Given the description of an element on the screen output the (x, y) to click on. 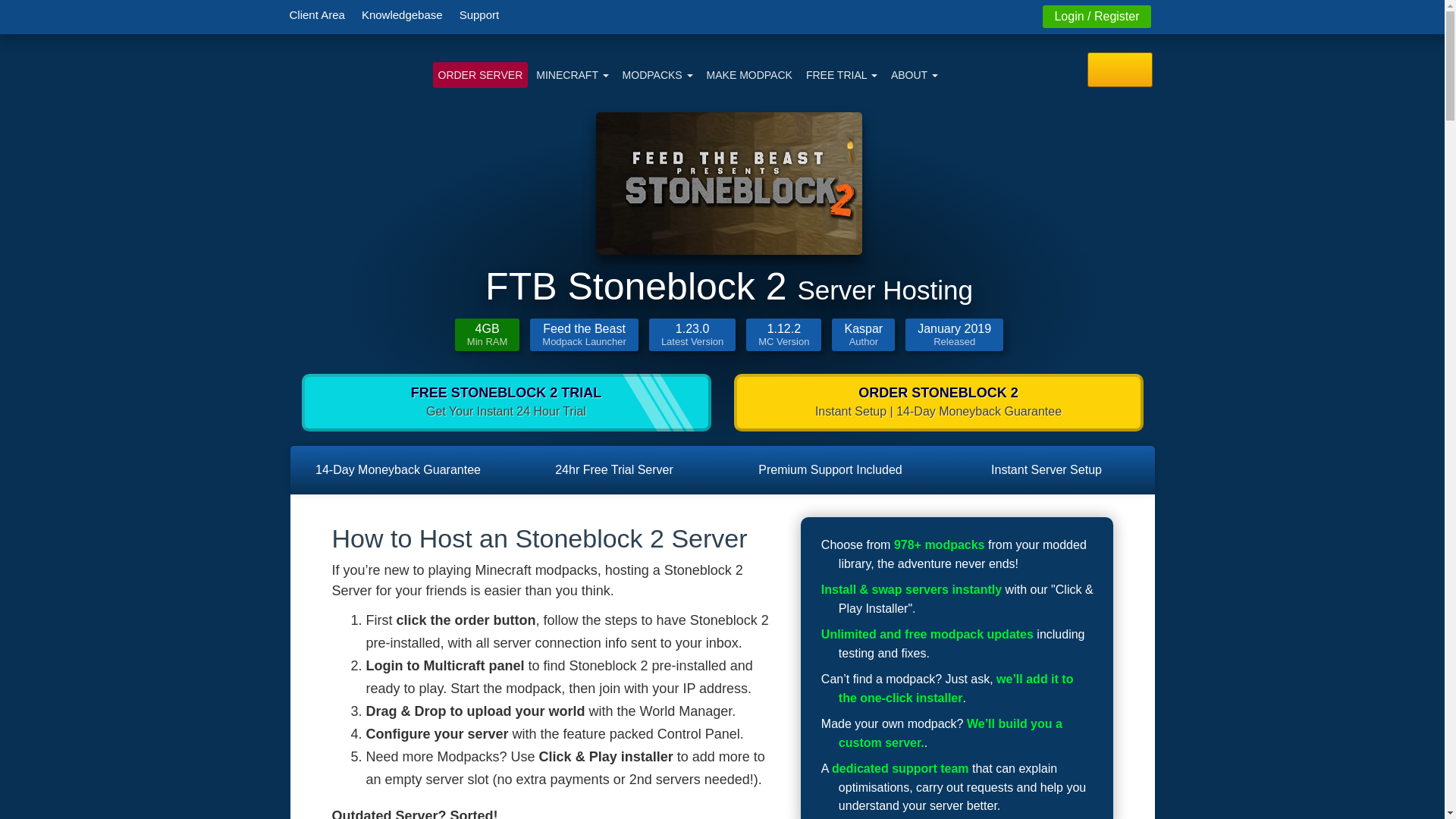
StickyPiston Minecraft Server Hosting (351, 65)
Make a Modded Minecraft Server (749, 74)
MINECRAFT (571, 74)
Minecraft Hosting (571, 74)
Host Minecraft Server Now (479, 74)
MODPACKS (657, 74)
Support (479, 14)
Client Area (316, 14)
ORDER SERVER (479, 74)
Knowledgebase (402, 14)
